Given the description of an element on the screen output the (x, y) to click on. 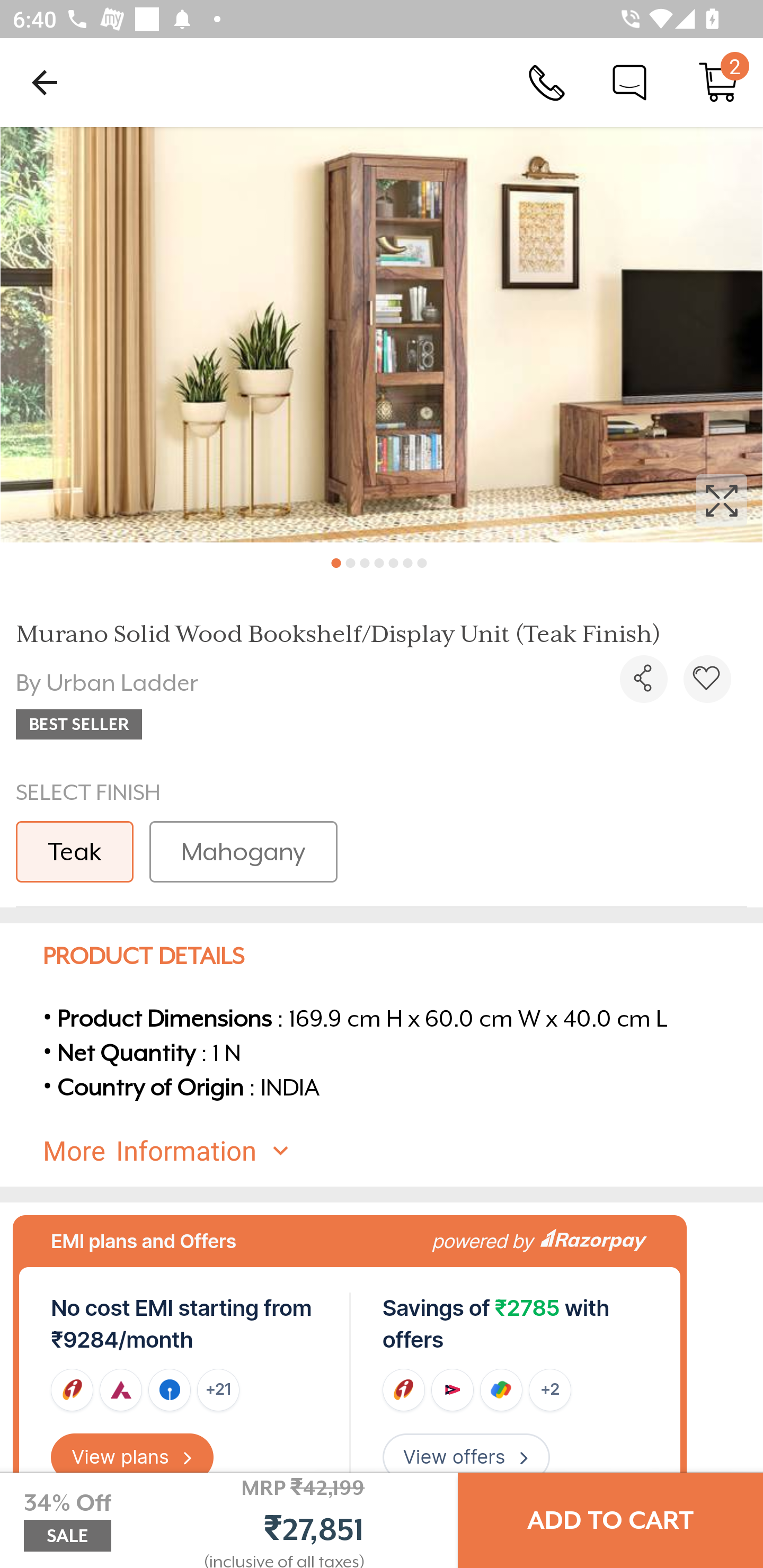
Navigate up (44, 82)
Call Us (546, 81)
Chat (629, 81)
Cart (718, 81)
 (381, 334)
 (643, 678)
 (706, 678)
Teak (74, 851)
Mahogany (243, 851)
More Information  (396, 1151)
View plans (132, 1457)
View offers (465, 1457)
ADD TO CART (610, 1520)
